Given the description of an element on the screen output the (x, y) to click on. 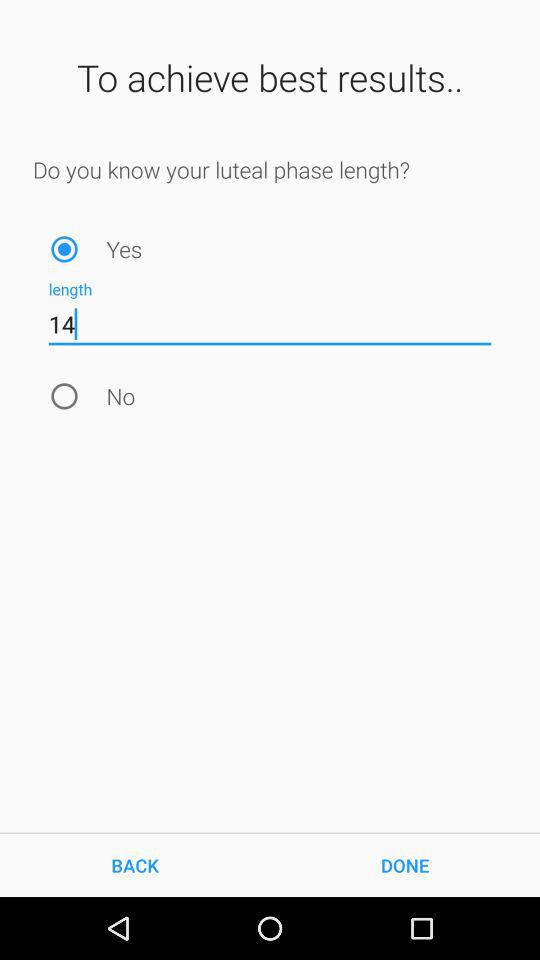
launch icon below do you know icon (64, 248)
